Given the description of an element on the screen output the (x, y) to click on. 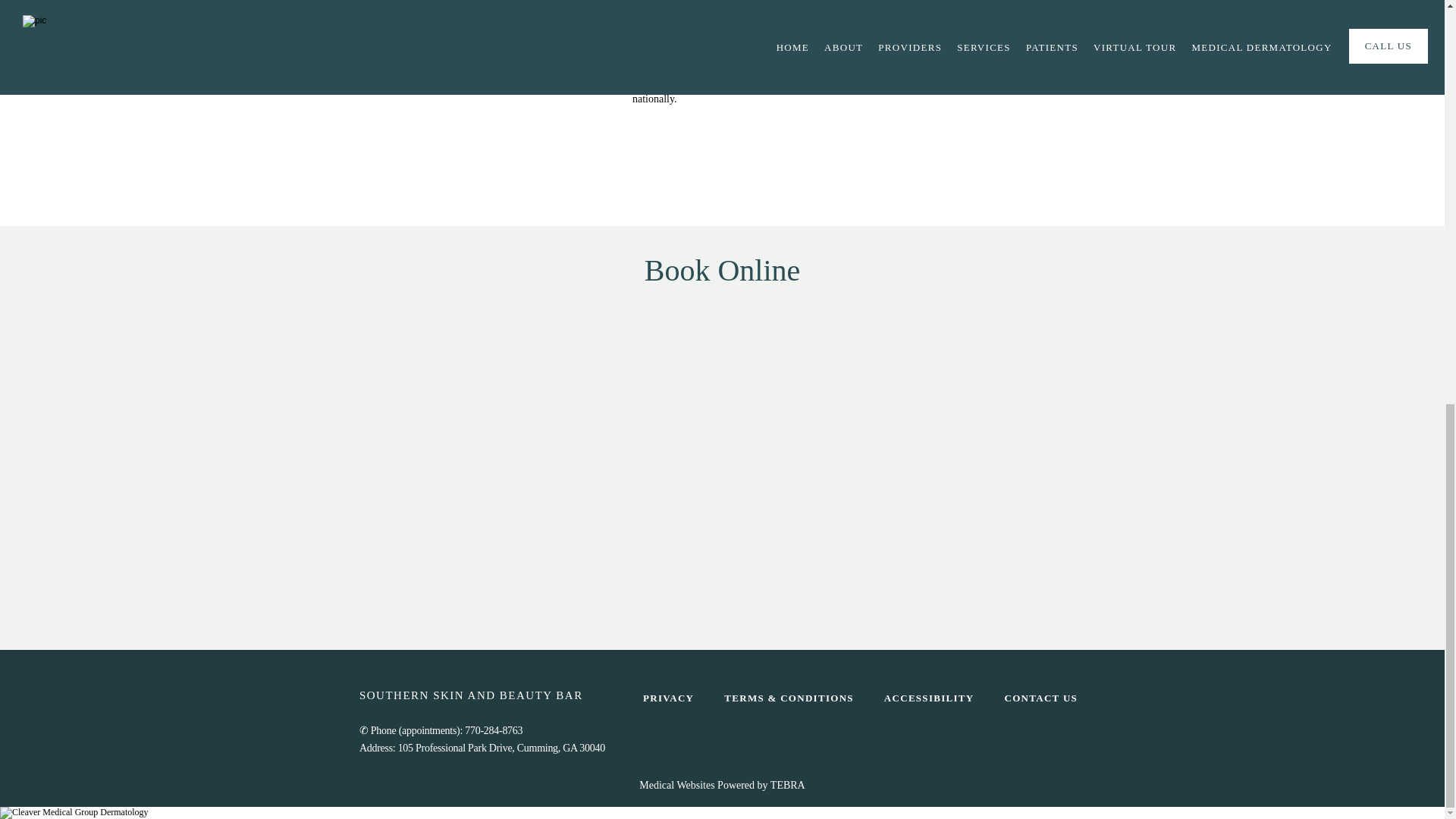
CONTACT US (1041, 697)
TEBRA (787, 785)
ACCESSIBILITY (928, 697)
PRIVACY (668, 697)
